Given the description of an element on the screen output the (x, y) to click on. 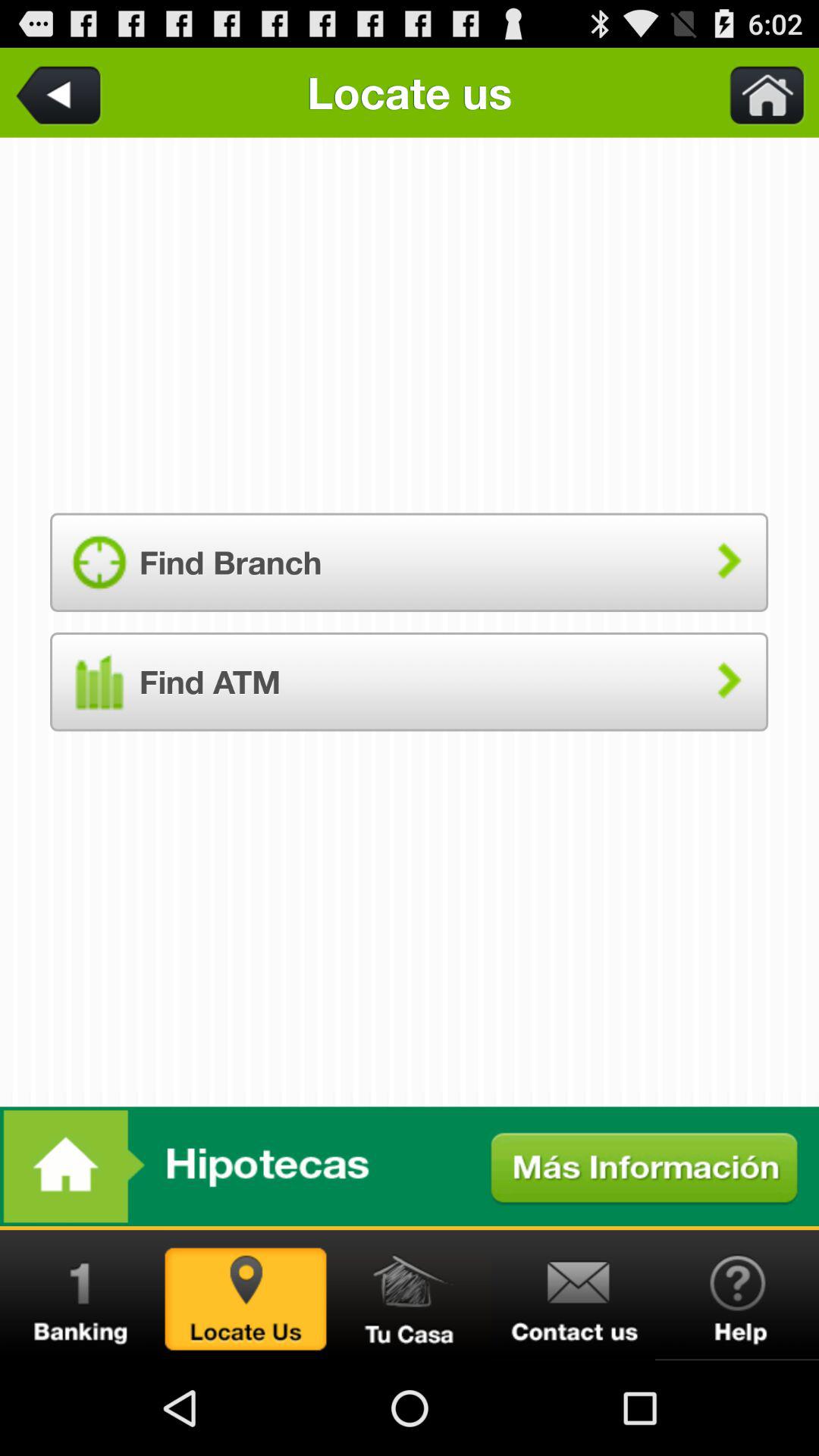
help button (737, 1295)
